Given the description of an element on the screen output the (x, y) to click on. 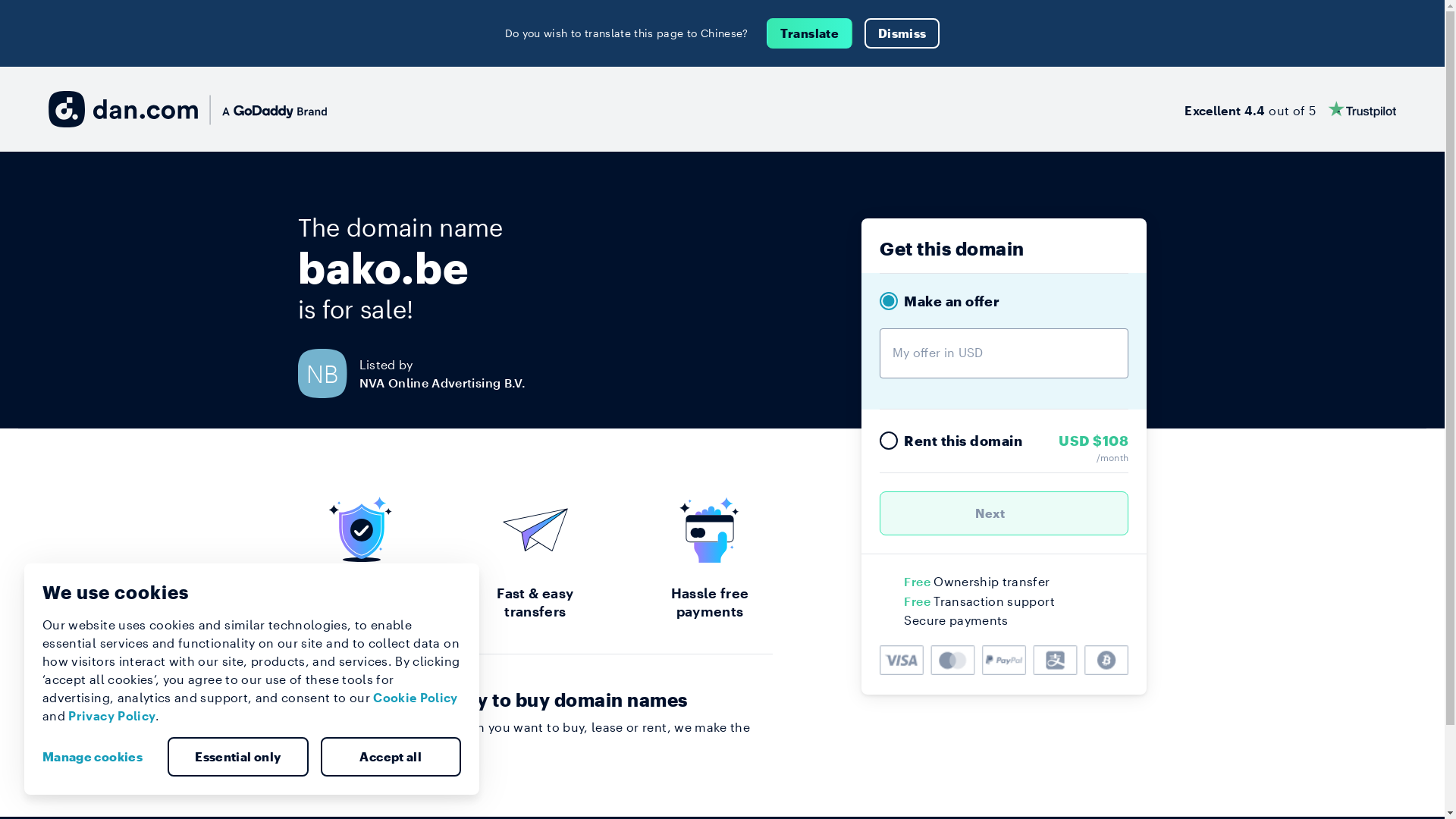
Manage cookies Element type: text (98, 756)
Next
) Element type: text (1003, 513)
Excellent 4.4 out of 5 Element type: text (1290, 109)
Accept all Element type: text (390, 756)
Privacy Policy Element type: text (111, 715)
Dismiss Element type: text (901, 33)
Translate Element type: text (809, 33)
Essential only Element type: text (237, 756)
Cookie Policy Element type: text (415, 697)
